Given the description of an element on the screen output the (x, y) to click on. 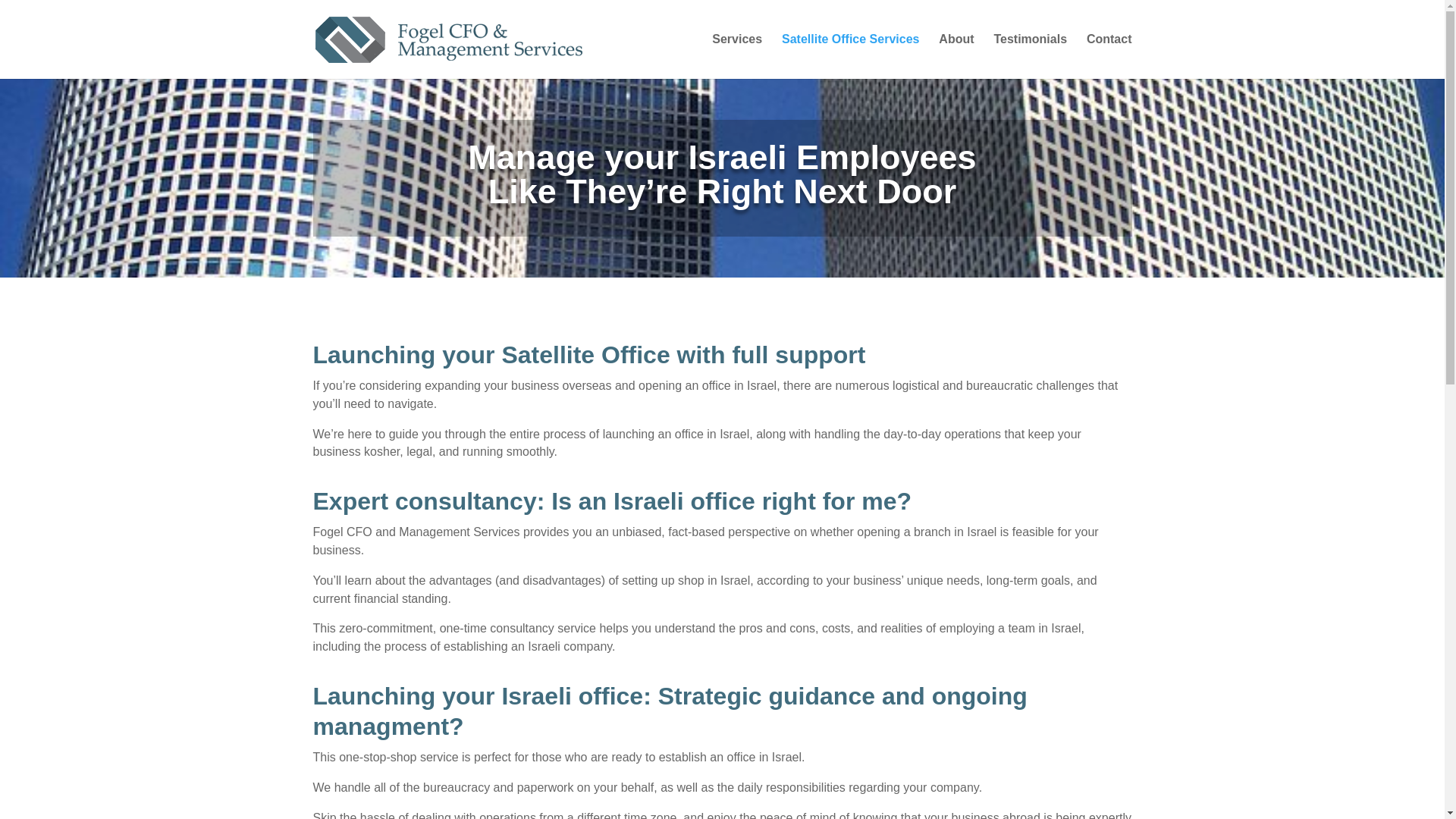
Services (736, 56)
Satellite Office Services (849, 56)
Testimonials (1029, 56)
Contact (1109, 56)
